Given the description of an element on the screen output the (x, y) to click on. 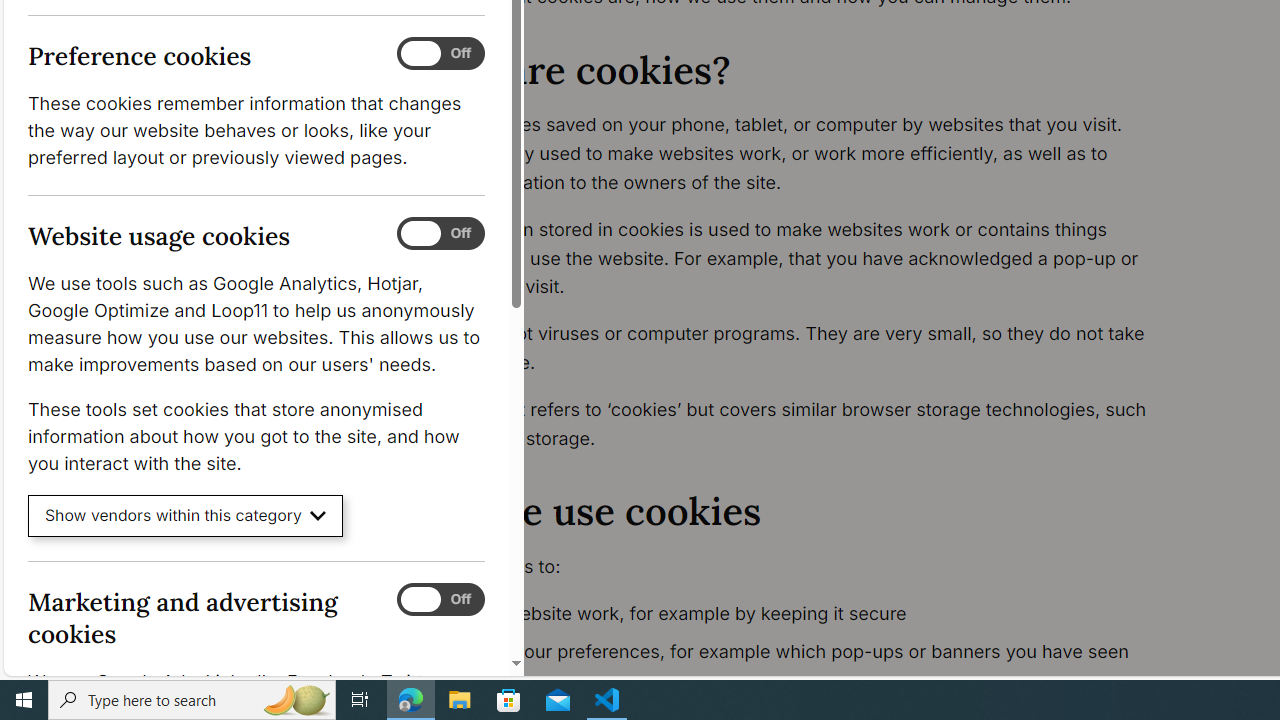
Show vendors within this category (185, 516)
Marketing and advertising cookies (440, 599)
make our website work, for example by keeping it secure (796, 614)
Website usage cookies (440, 233)
Preference cookies (440, 53)
